Given the description of an element on the screen output the (x, y) to click on. 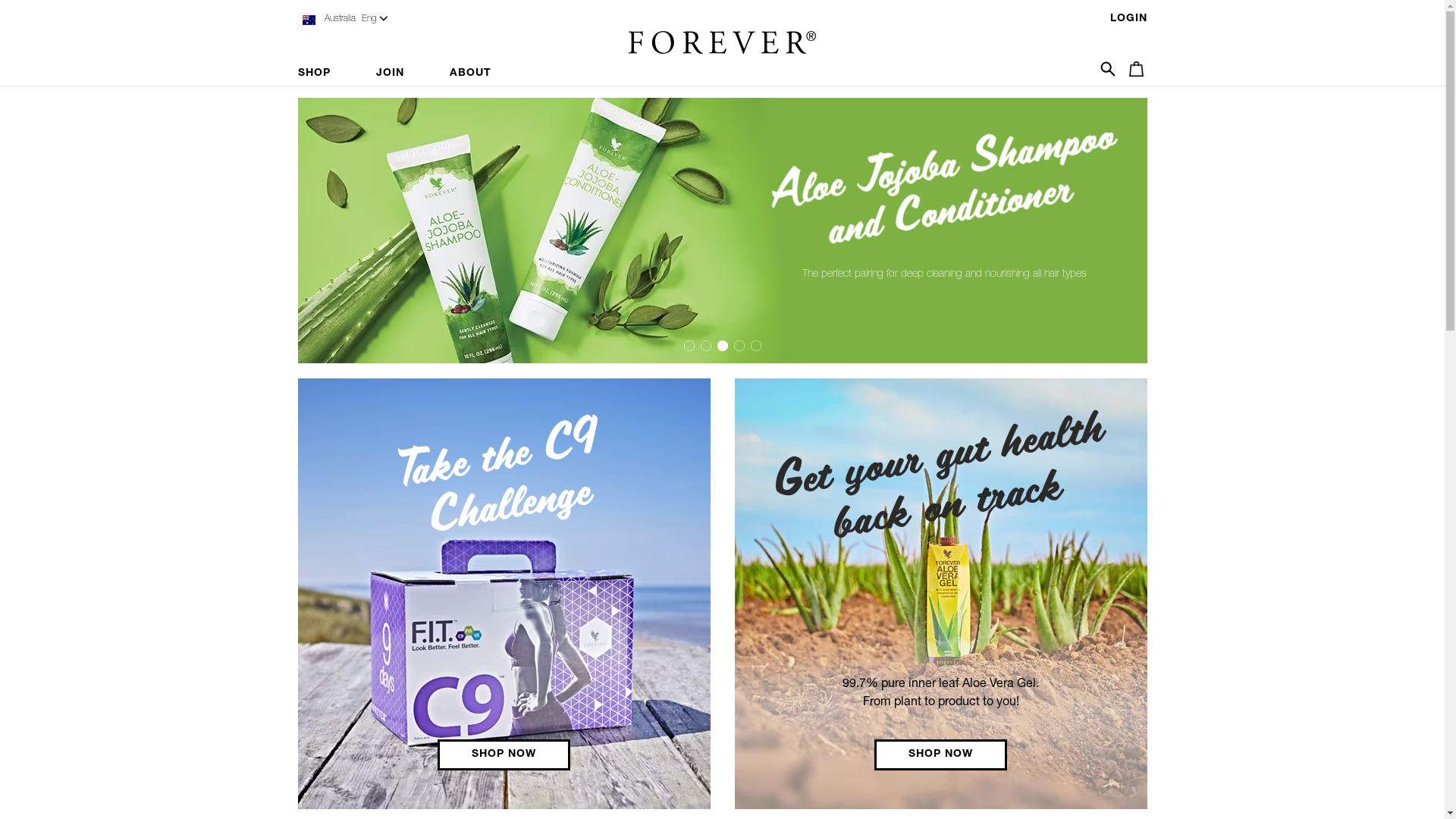
LOGIN Element type: text (1128, 18)
SHOP NOW Element type: text (940, 754)
SHOP Element type: text (324, 73)
JOIN Element type: text (389, 73)
ABOUT Element type: text (469, 73)
SHOP NOW Element type: text (503, 754)
AustraliaEng Element type: text (343, 19)
